Given the description of an element on the screen output the (x, y) to click on. 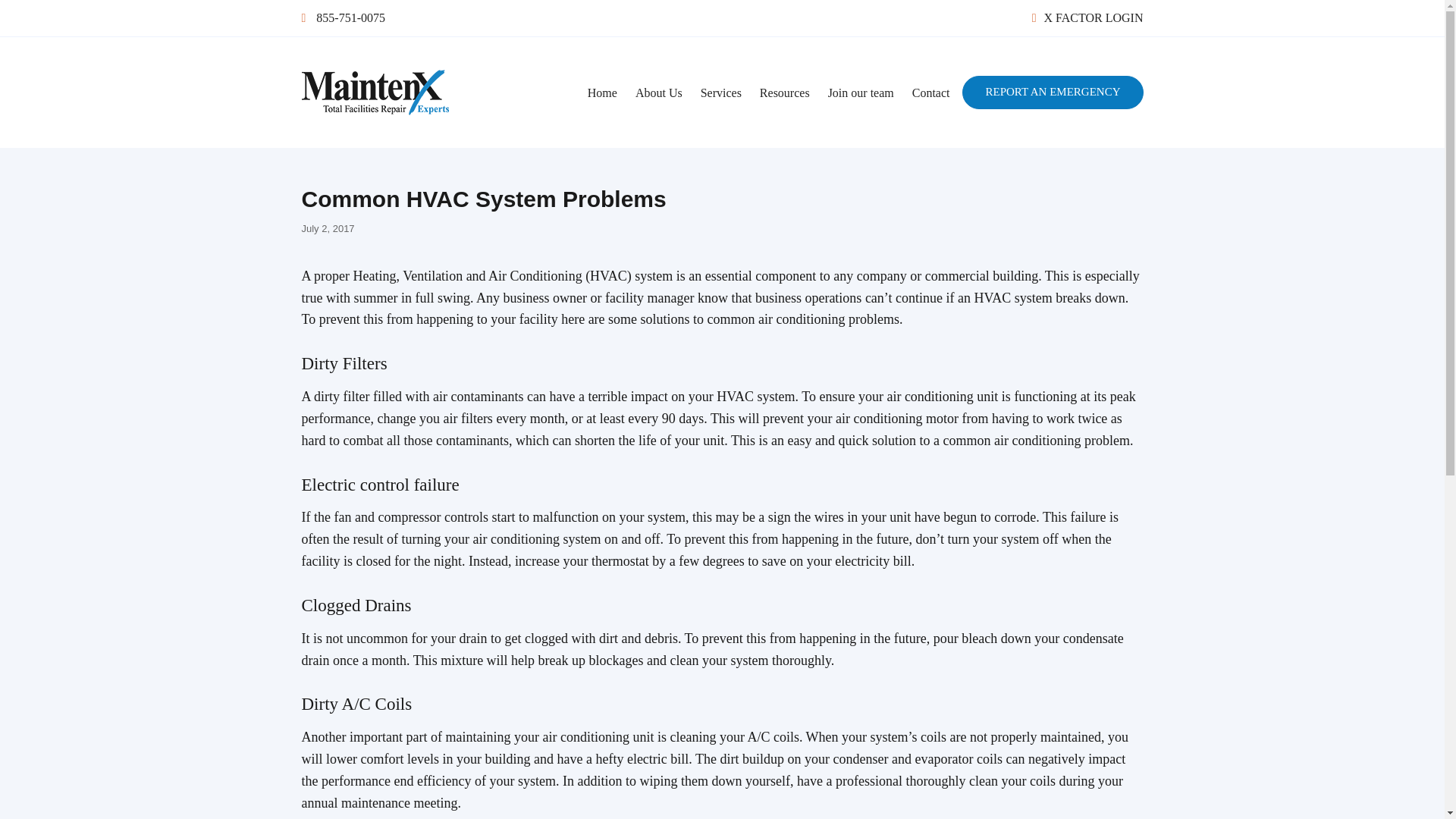
855-751-0075 (343, 17)
Contact (930, 92)
Home (602, 92)
Maintenx (347, 138)
Join our team (860, 92)
REPORT AN EMERGENCY (1052, 92)
Resources (784, 92)
July 2, 2017 (328, 228)
Services (721, 92)
About Us (658, 92)
